Given the description of an element on the screen output the (x, y) to click on. 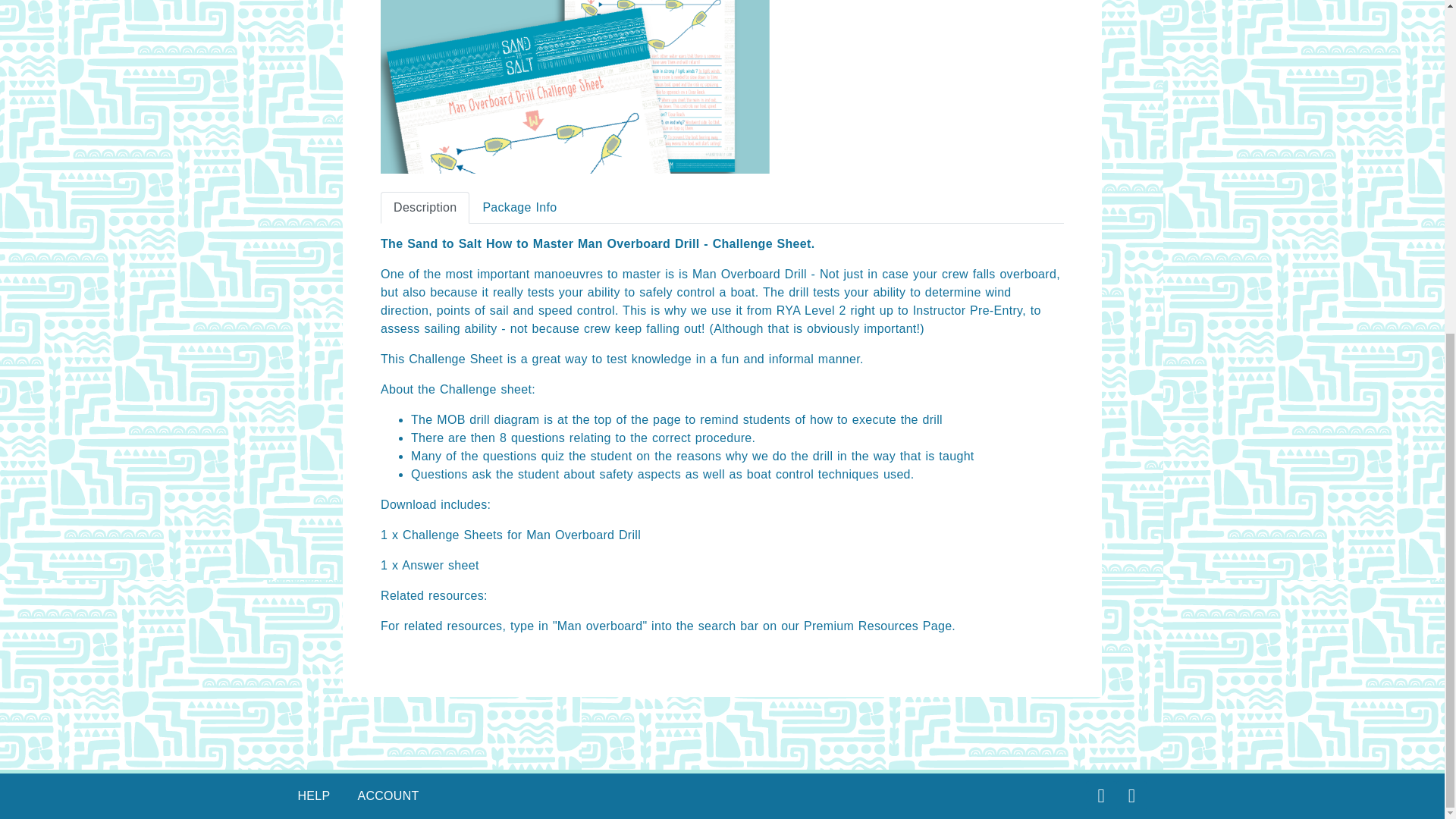
ACCOUNT (387, 796)
Package Info (518, 207)
Premium Resources Page. (879, 625)
Description (424, 207)
HELP (313, 796)
